Given the description of an element on the screen output the (x, y) to click on. 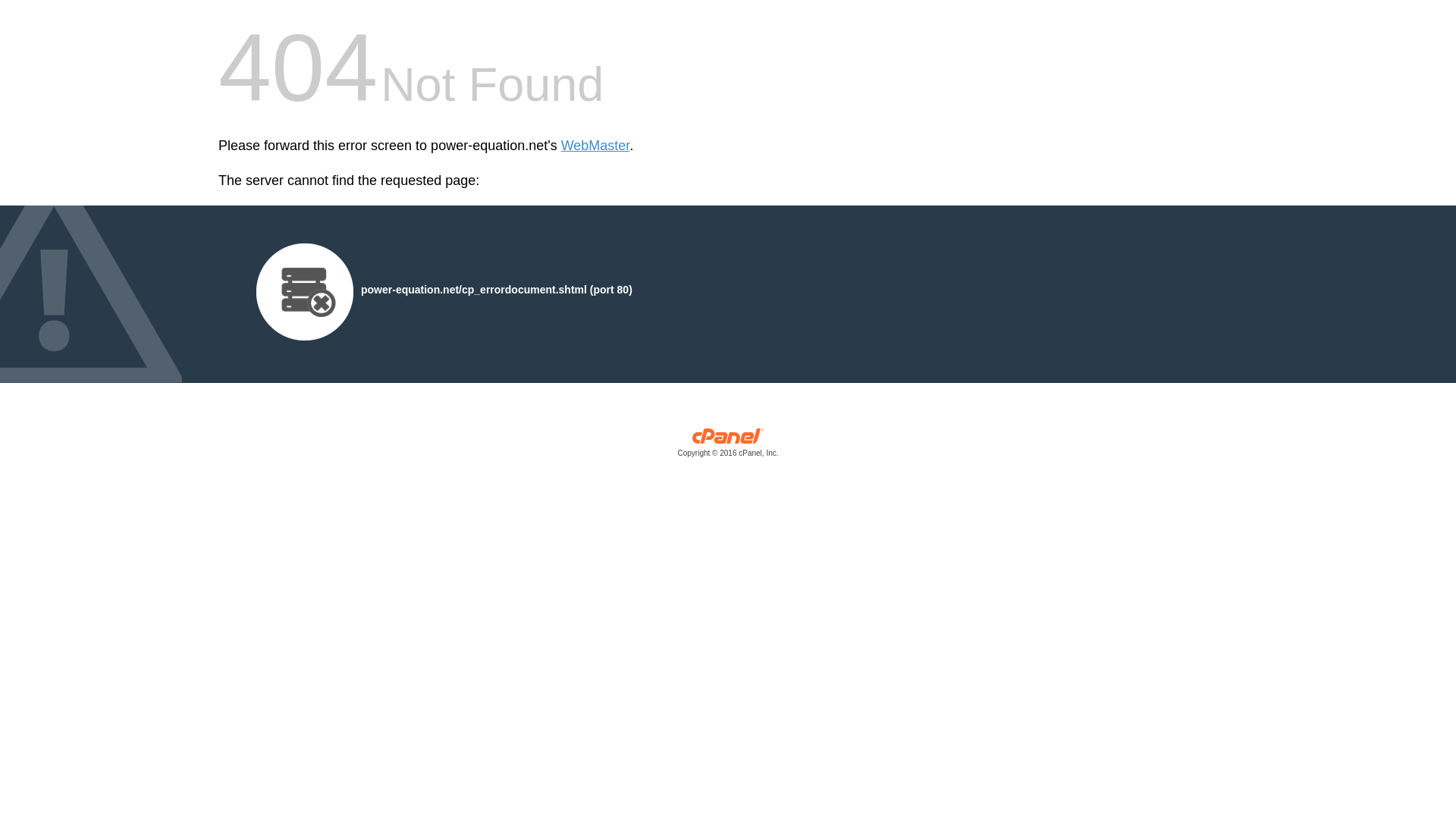
WebMaster (595, 145)
cPanel, Inc. (727, 446)
